Given the description of an element on the screen output the (x, y) to click on. 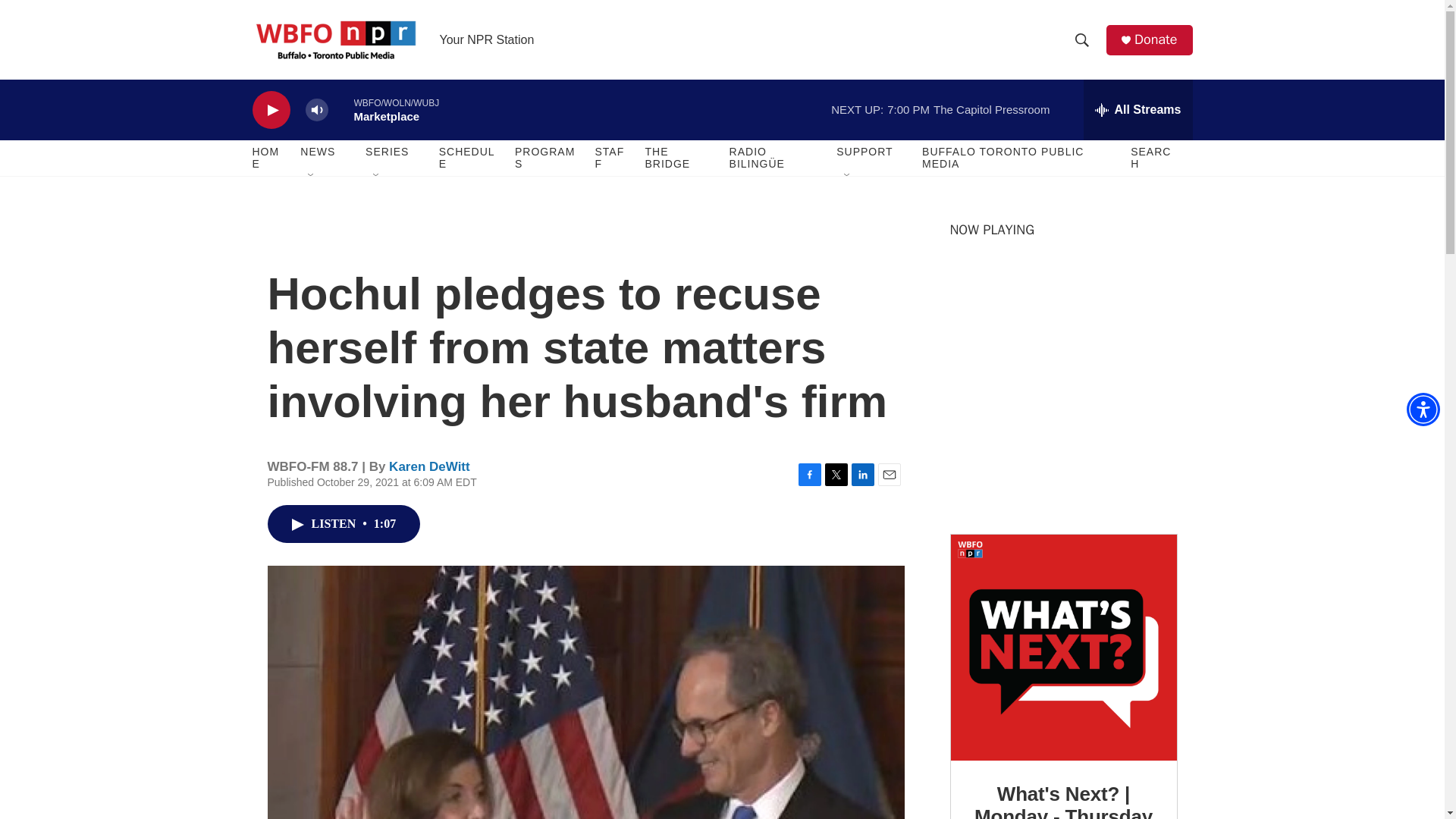
Accessibility Menu (1422, 409)
3rd party ad content (1062, 408)
